Given the description of an element on the screen output the (x, y) to click on. 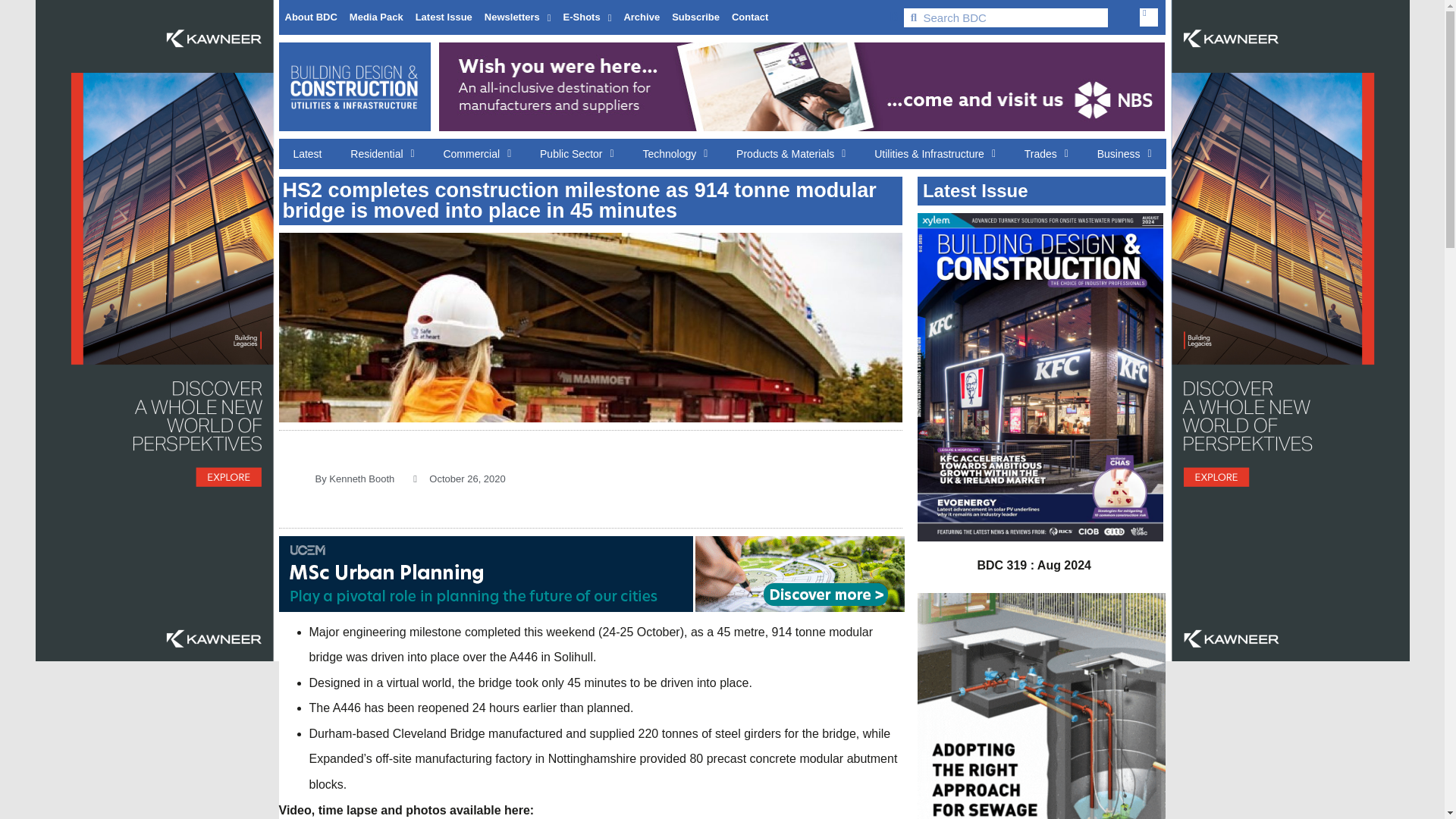
Subscribe (695, 17)
hhss22 (590, 327)
Media Pack (376, 17)
Newsletters (518, 17)
Archive (641, 17)
About BDC (311, 17)
Residential (382, 153)
Contact (749, 17)
Latest (307, 153)
Latest Issue (444, 17)
E-Shots (587, 17)
